Given the description of an element on the screen output the (x, y) to click on. 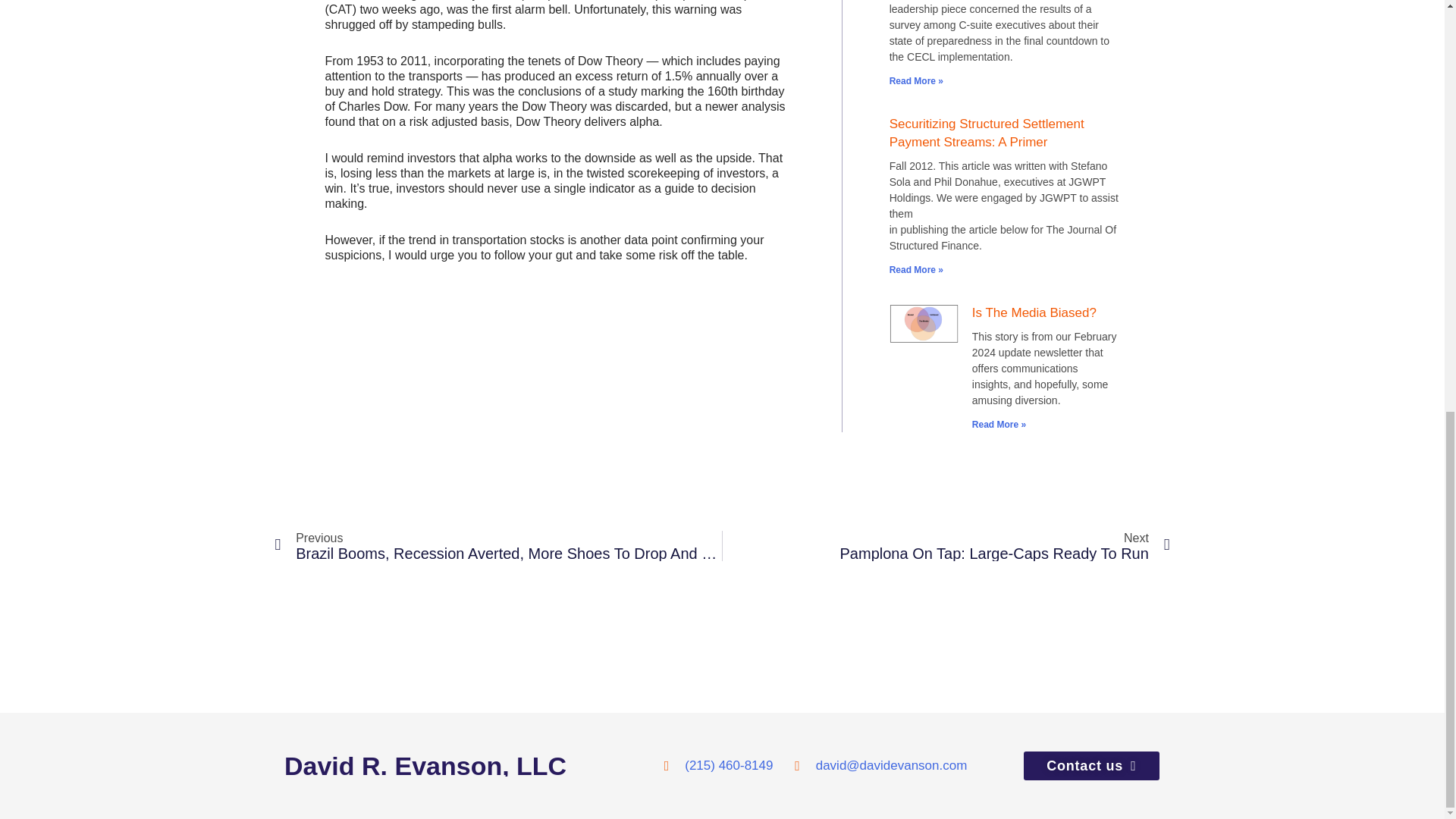
Is The Media Biased? (1034, 312)
David R. Evanson, LLC (473, 765)
Contact us (1090, 765)
Securitizing Structured Settlement Payment Streams: A Primer (986, 133)
